Given the description of an element on the screen output the (x, y) to click on. 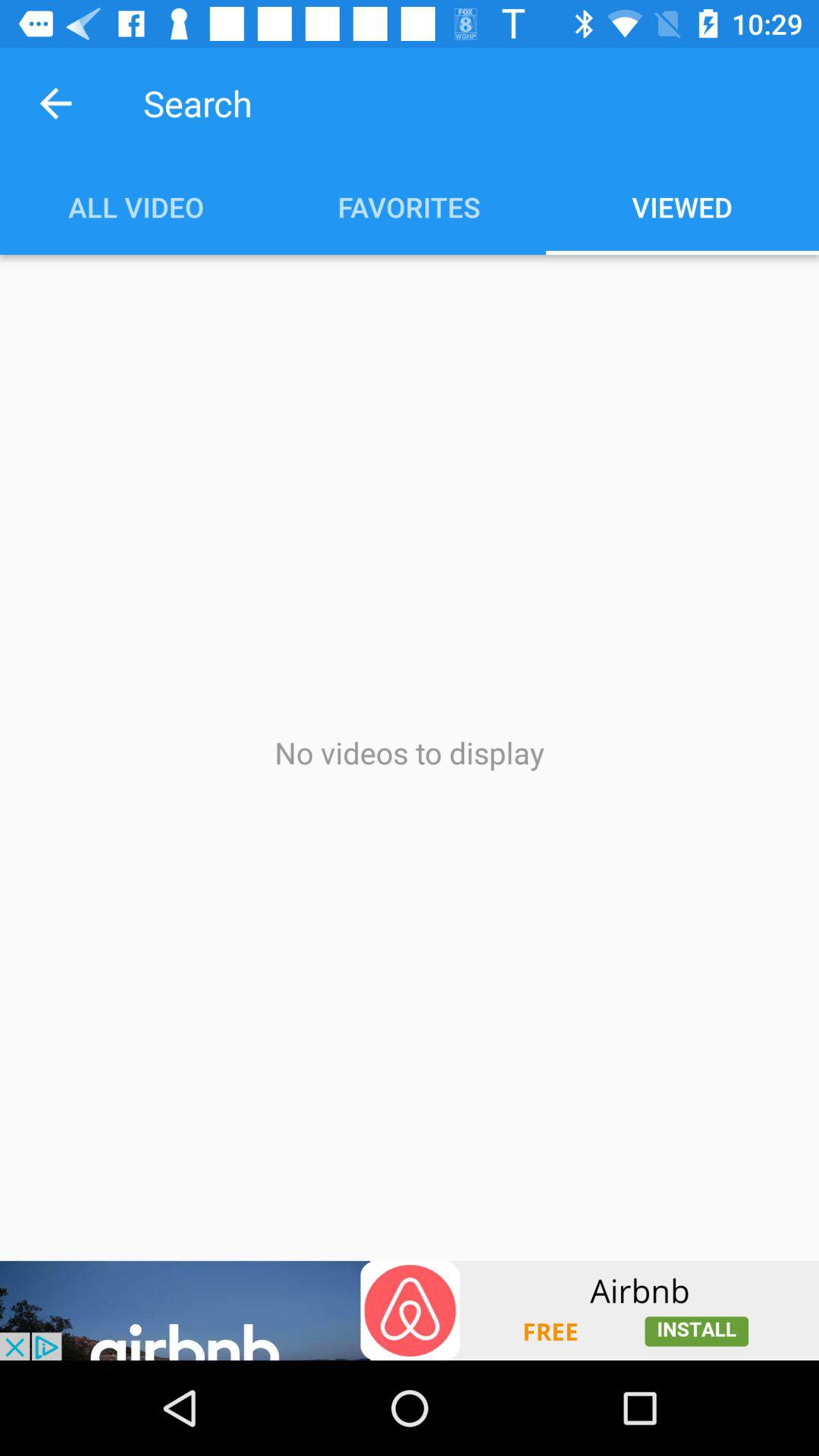
view advert (409, 1310)
